Given the description of an element on the screen output the (x, y) to click on. 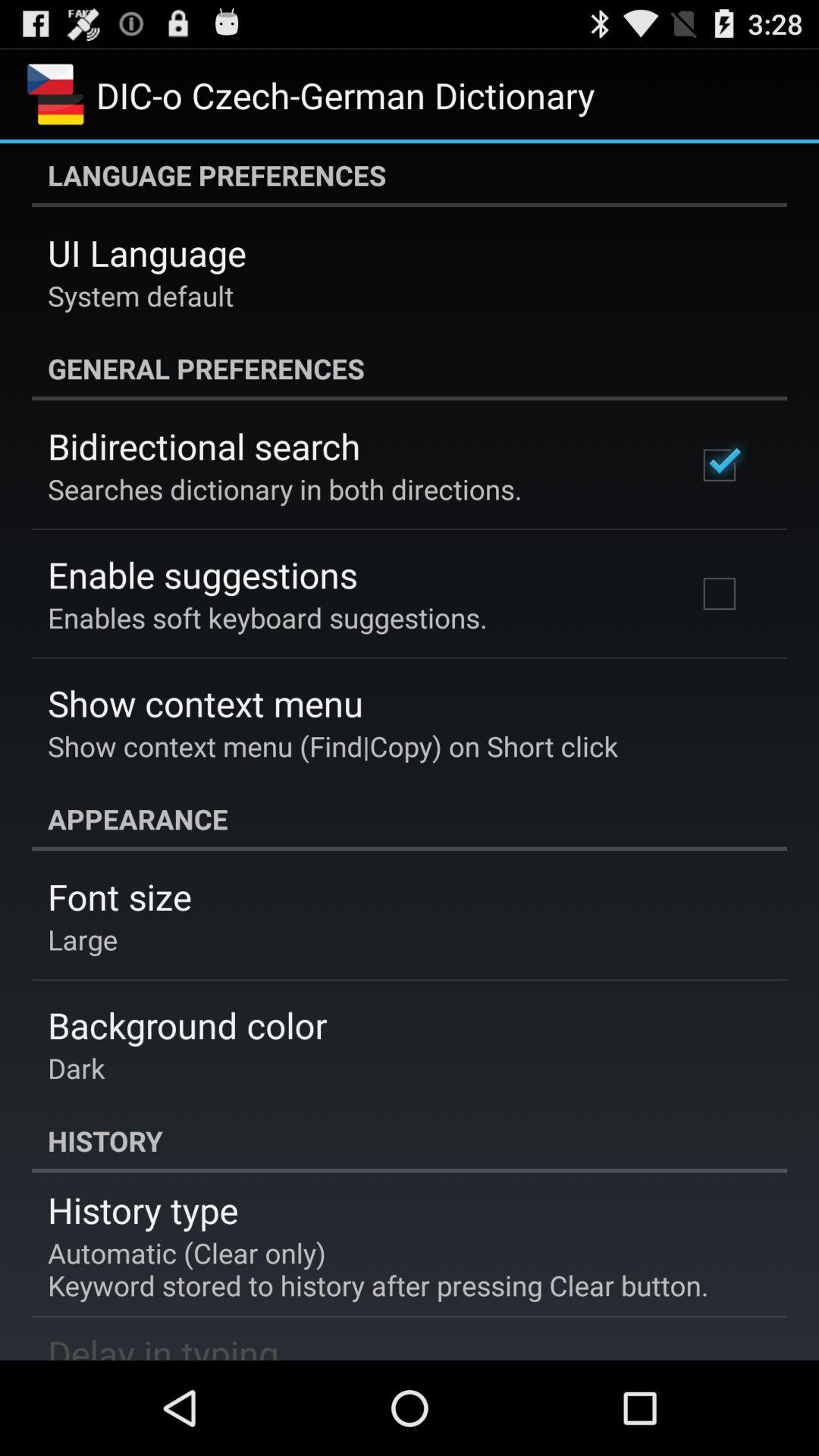
choose the enable suggestions item (202, 574)
